Given the description of an element on the screen output the (x, y) to click on. 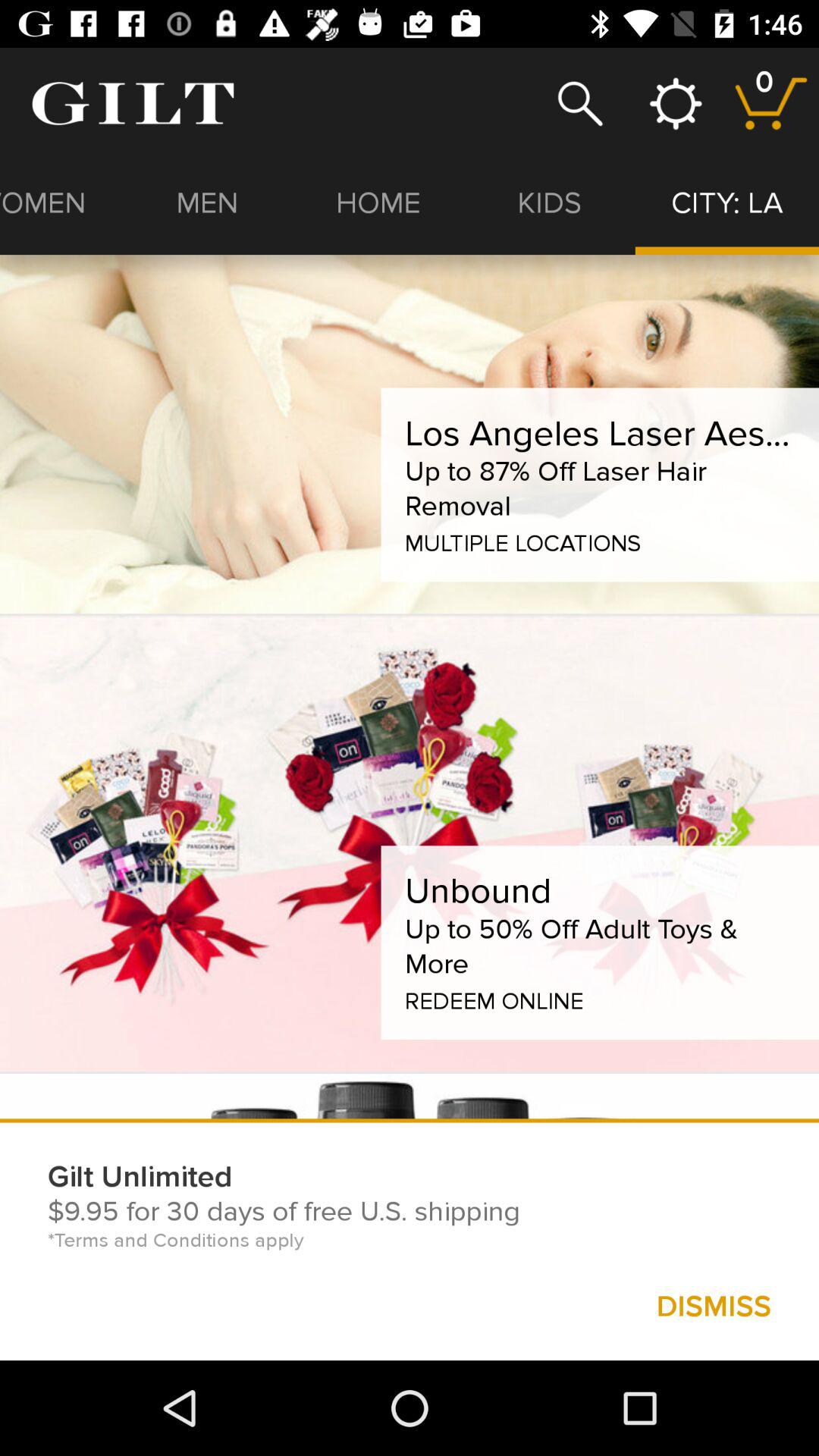
click item below up to 87 item (522, 539)
